Given the description of an element on the screen output the (x, y) to click on. 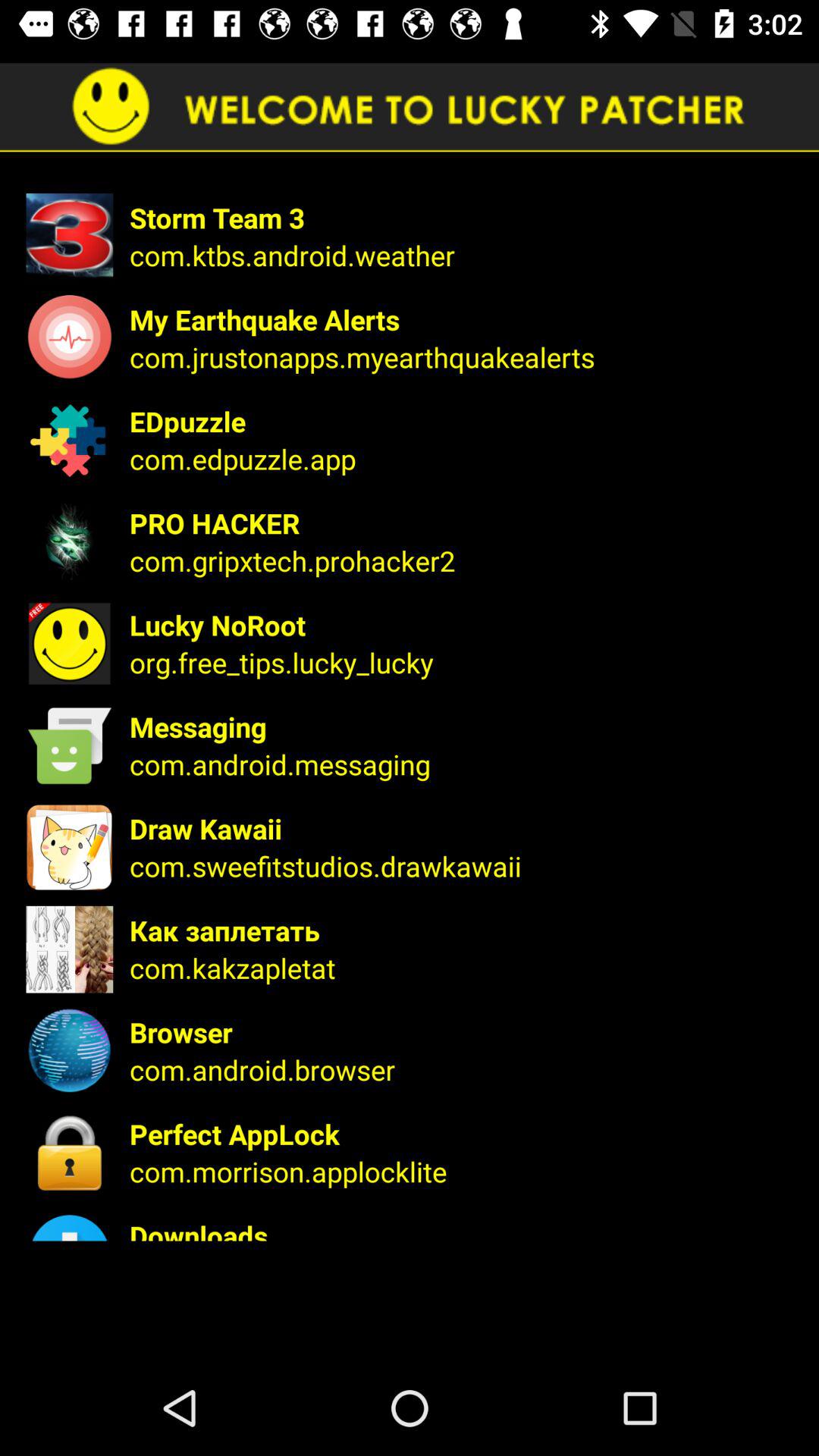
open the app above com.sweefitstudios.drawkawaii icon (464, 828)
